Given the description of an element on the screen output the (x, y) to click on. 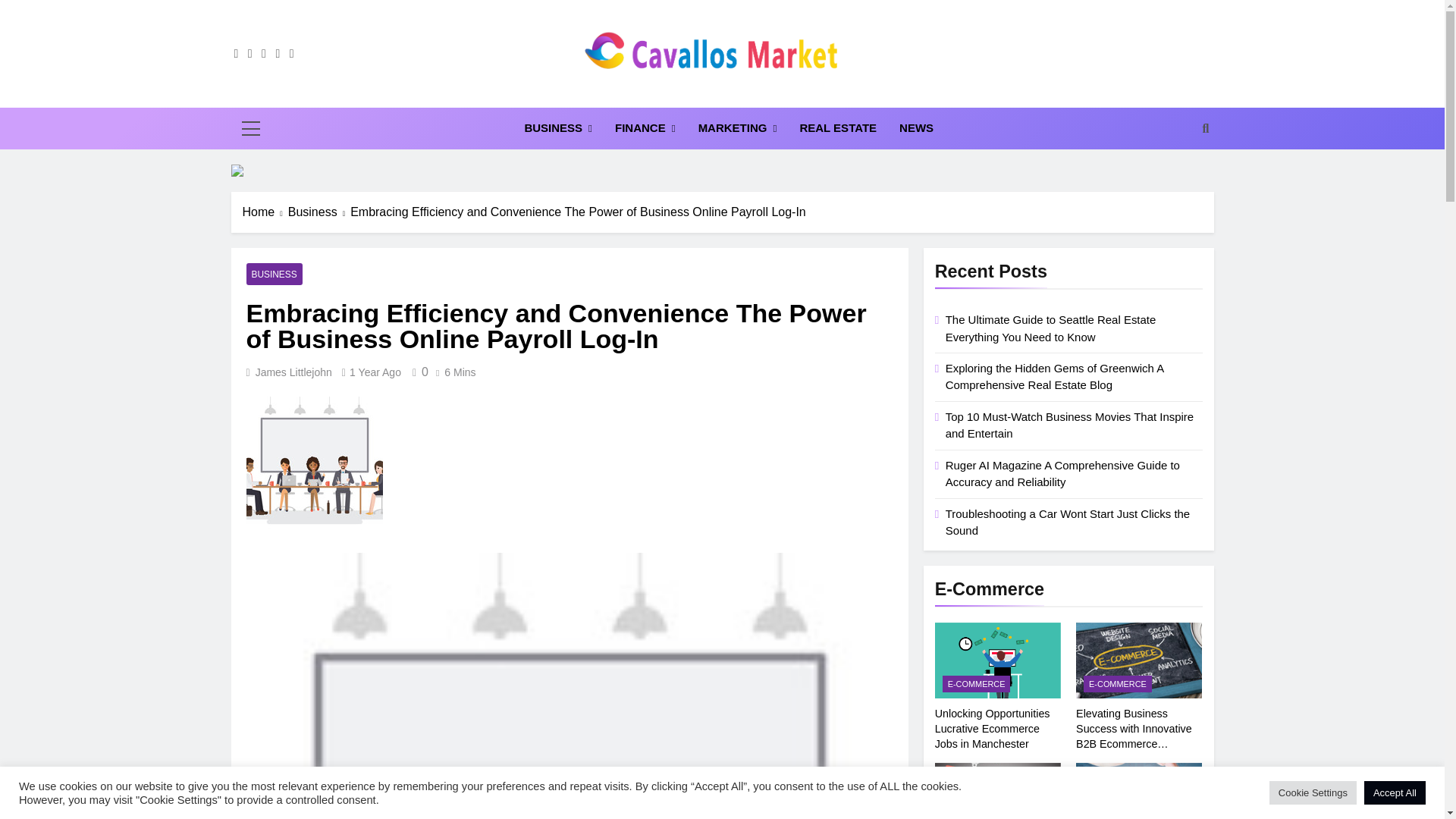
MARKETING (738, 128)
REAL ESTATE (837, 127)
Cavallos Market (601, 94)
FINANCE (645, 128)
BUSINESS (558, 128)
